Given the description of an element on the screen output the (x, y) to click on. 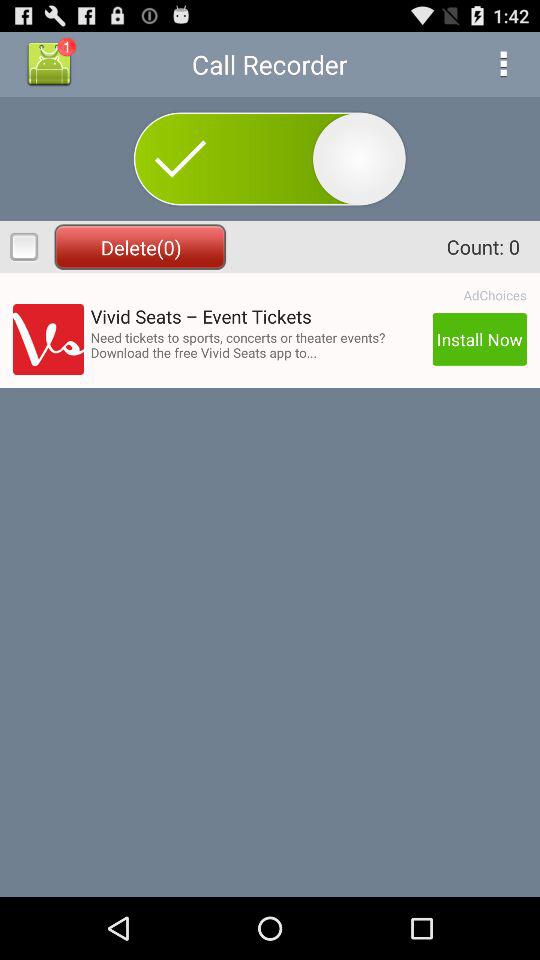
click app below the adchoices app (479, 339)
